Given the description of an element on the screen output the (x, y) to click on. 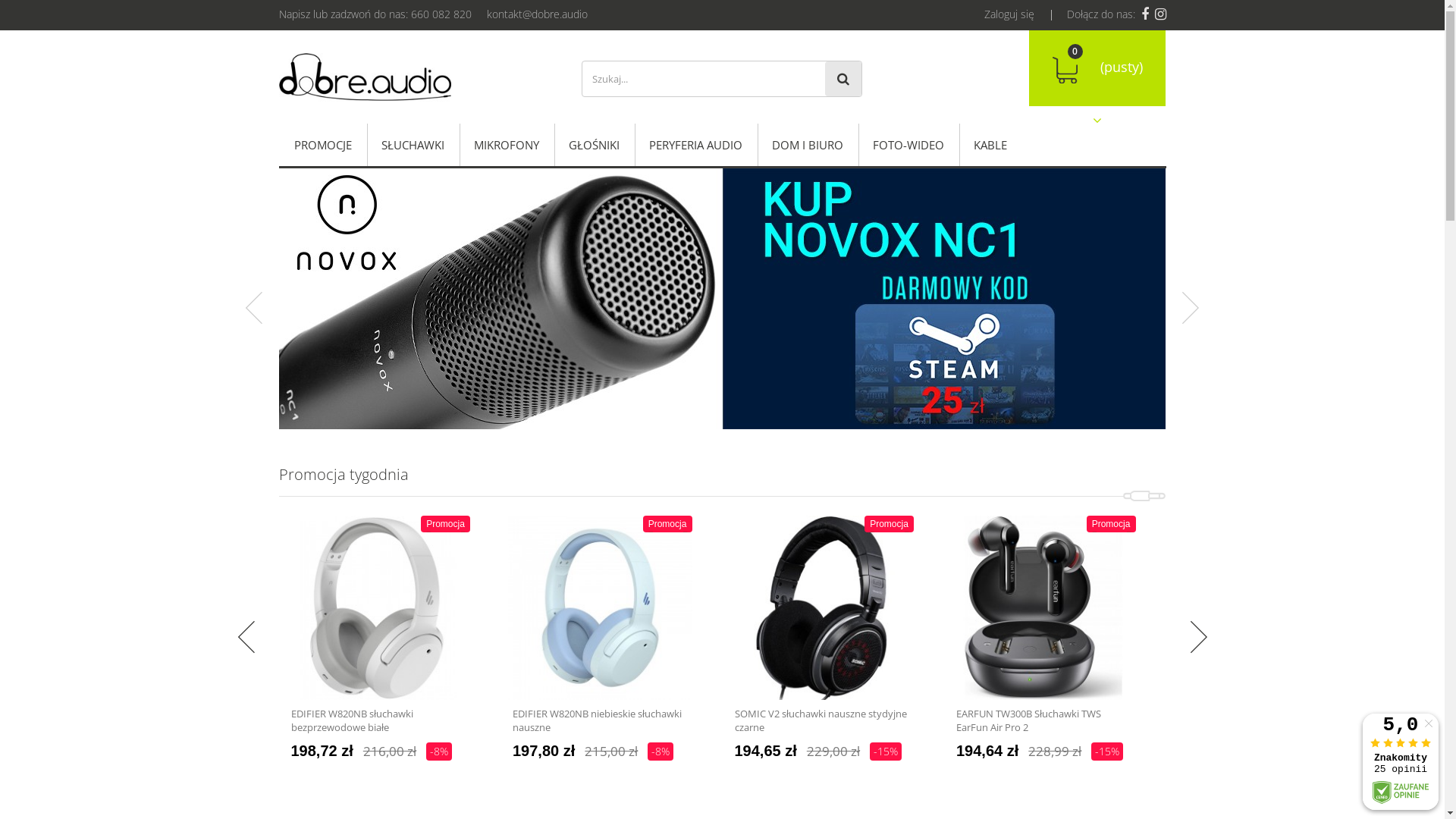
DOM I BIURO Element type: text (807, 144)
PERYFERIA AUDIO Element type: text (695, 144)
Next Element type: text (1190, 307)
KABLE Element type: text (990, 144)
Prev Element type: text (253, 307)
dobre.audio Element type: hover (419, 77)
FOTO-WIDEO Element type: text (907, 144)
kontakt@dobre.audio Element type: text (529, 14)
Dobre Audio Instagram Element type: hover (1158, 15)
Next Element type: text (1198, 636)
Dobre Audio Facebook Element type: hover (1142, 15)
Prev Element type: text (245, 636)
0 (pusty) Element type: text (1097, 68)
PROMOCJE Element type: text (323, 144)
MIKROFONY Element type: text (506, 144)
